Given the description of an element on the screen output the (x, y) to click on. 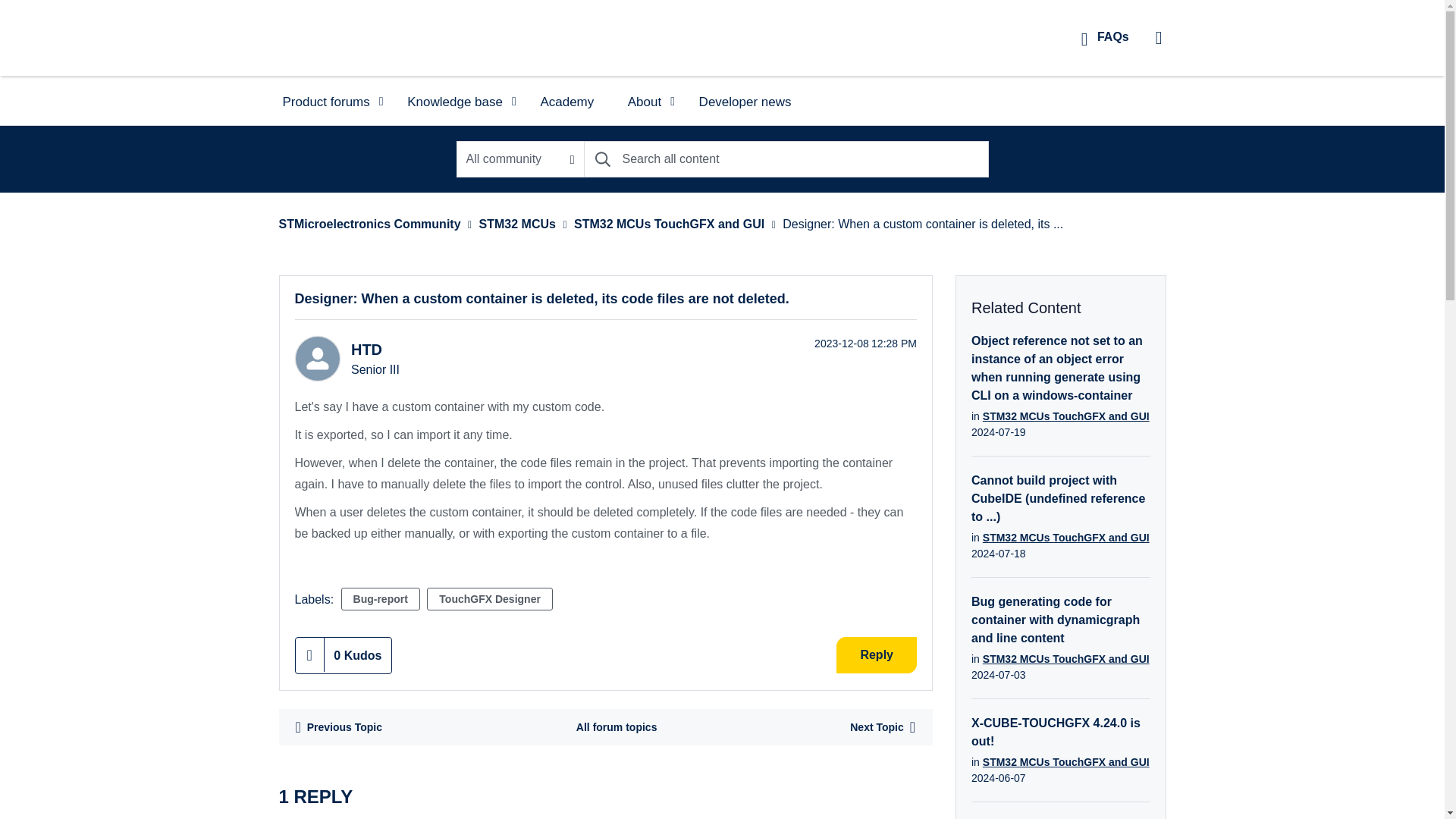
HTD (316, 358)
STM32 MCUs TouchGFX and GUI (616, 727)
STMicroelectronics Community (348, 37)
Search (602, 159)
Search Granularity (520, 158)
Product forums (327, 100)
The total number of kudos this post has received. (357, 655)
Search (785, 158)
FAQs (1105, 35)
Search (602, 159)
